Given the description of an element on the screen output the (x, y) to click on. 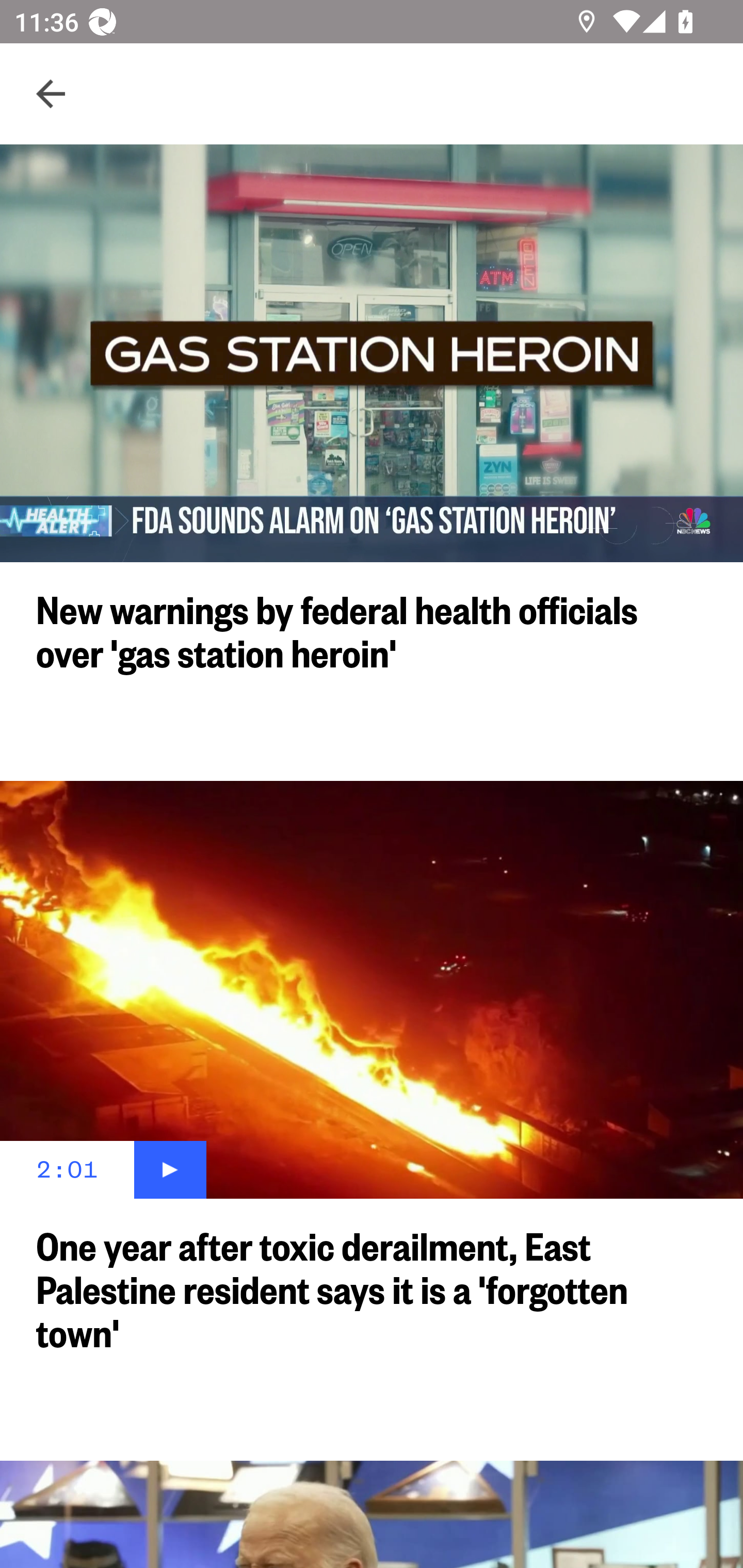
Navigate up (50, 93)
